Given the description of an element on the screen output the (x, y) to click on. 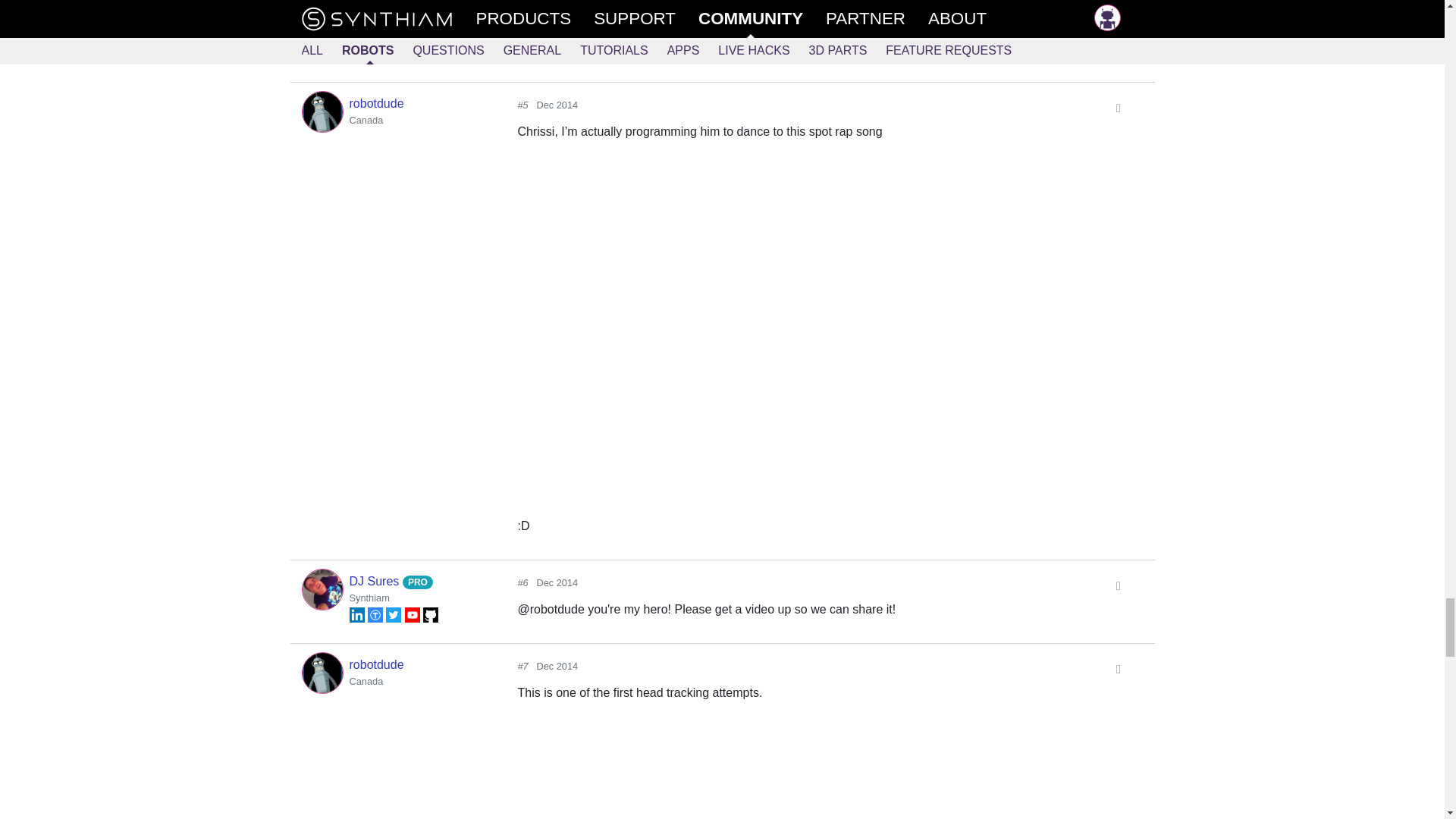
2014-12-10 14:32 UTC (556, 4)
2014-12-10 14:37 UTC (556, 104)
2014-12-10 14:44 UTC (556, 582)
2014-12-10 14:55 UTC (556, 665)
